Given the description of an element on the screen output the (x, y) to click on. 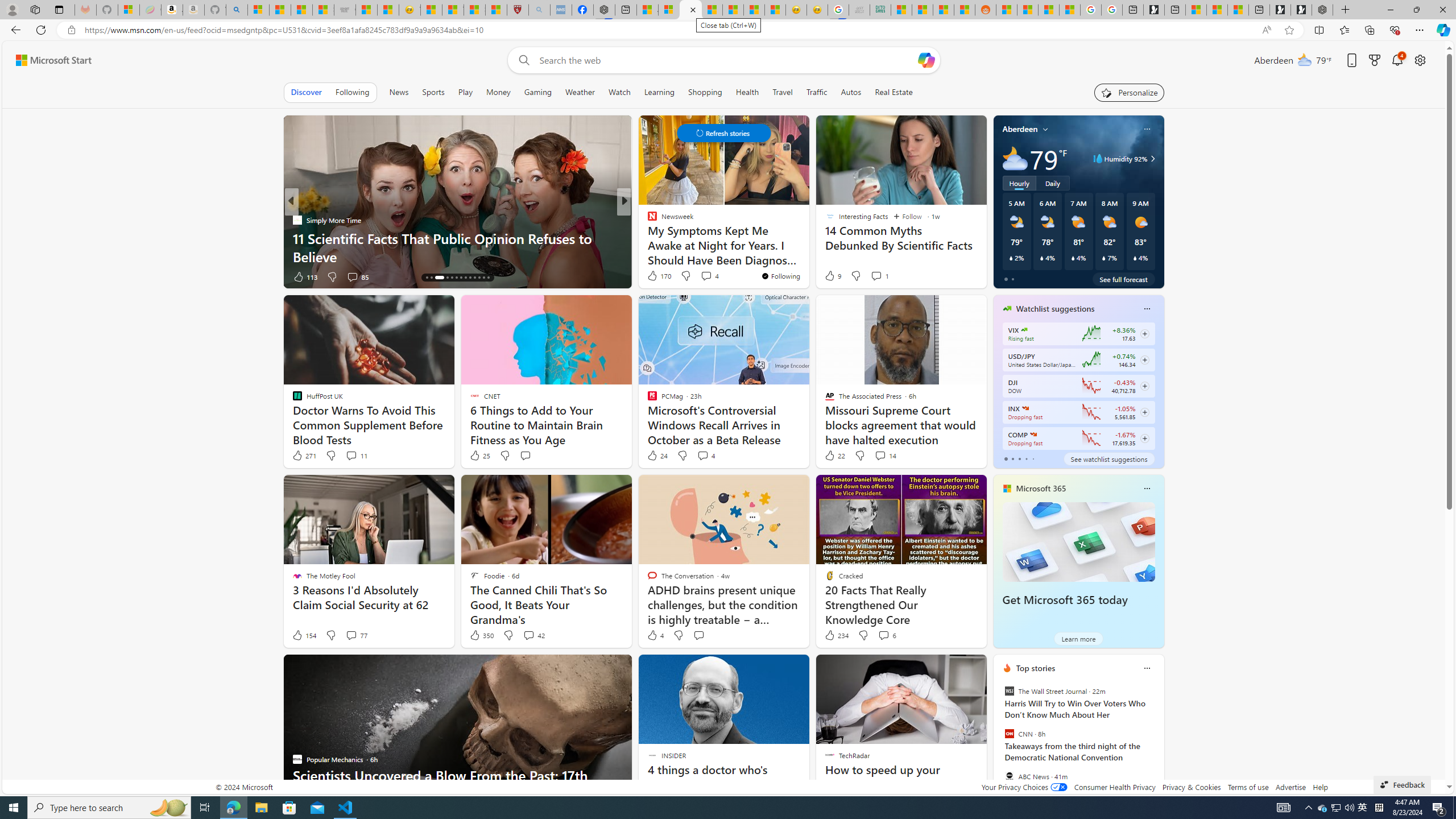
Privacy & Cookies (1191, 786)
Shopping (705, 92)
Real Estate (893, 92)
ABC News (1008, 775)
AutomationID: tab-25 (483, 277)
Kinda Frugal (647, 238)
The Wall Street Journal (1008, 691)
Recipes - MSN (431, 9)
Watchlist suggestions (1055, 308)
20 Ways To Embrace Aging Gracefully After Age 75 (807, 256)
Follow (907, 216)
CNN (1008, 733)
S&P 500 (1025, 407)
Consumer Health Privacy (1115, 786)
Get Microsoft 365 today (1064, 600)
